Given the description of an element on the screen output the (x, y) to click on. 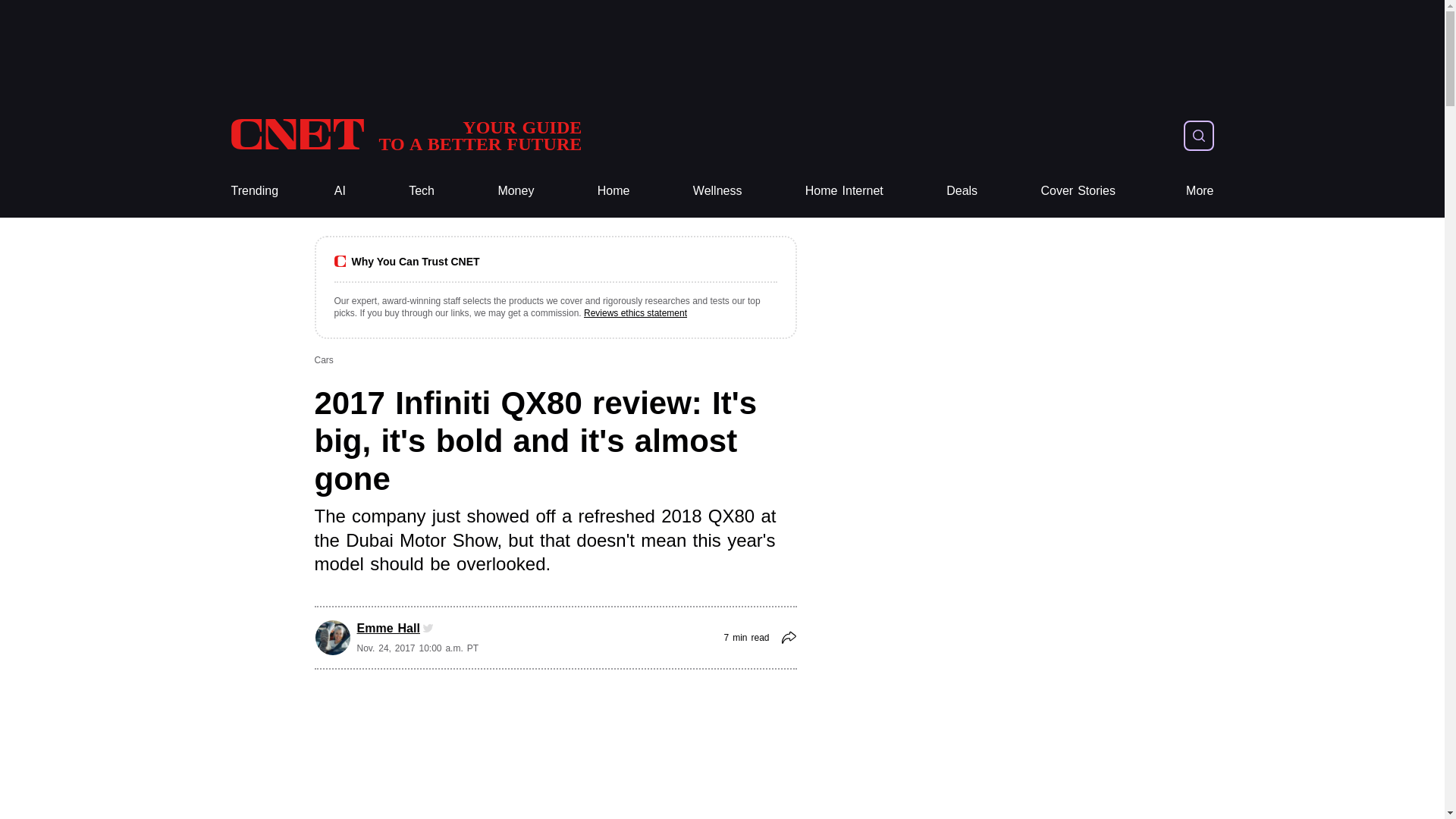
Home (613, 190)
Money (515, 190)
Tech (421, 190)
Home Internet (844, 190)
Trending (254, 190)
Home (613, 190)
Home Internet (844, 190)
Wellness (405, 135)
Money (717, 190)
Cover Stories (515, 190)
CNET (1078, 190)
More (405, 135)
Trending (1199, 190)
Wellness (254, 190)
